Given the description of an element on the screen output the (x, y) to click on. 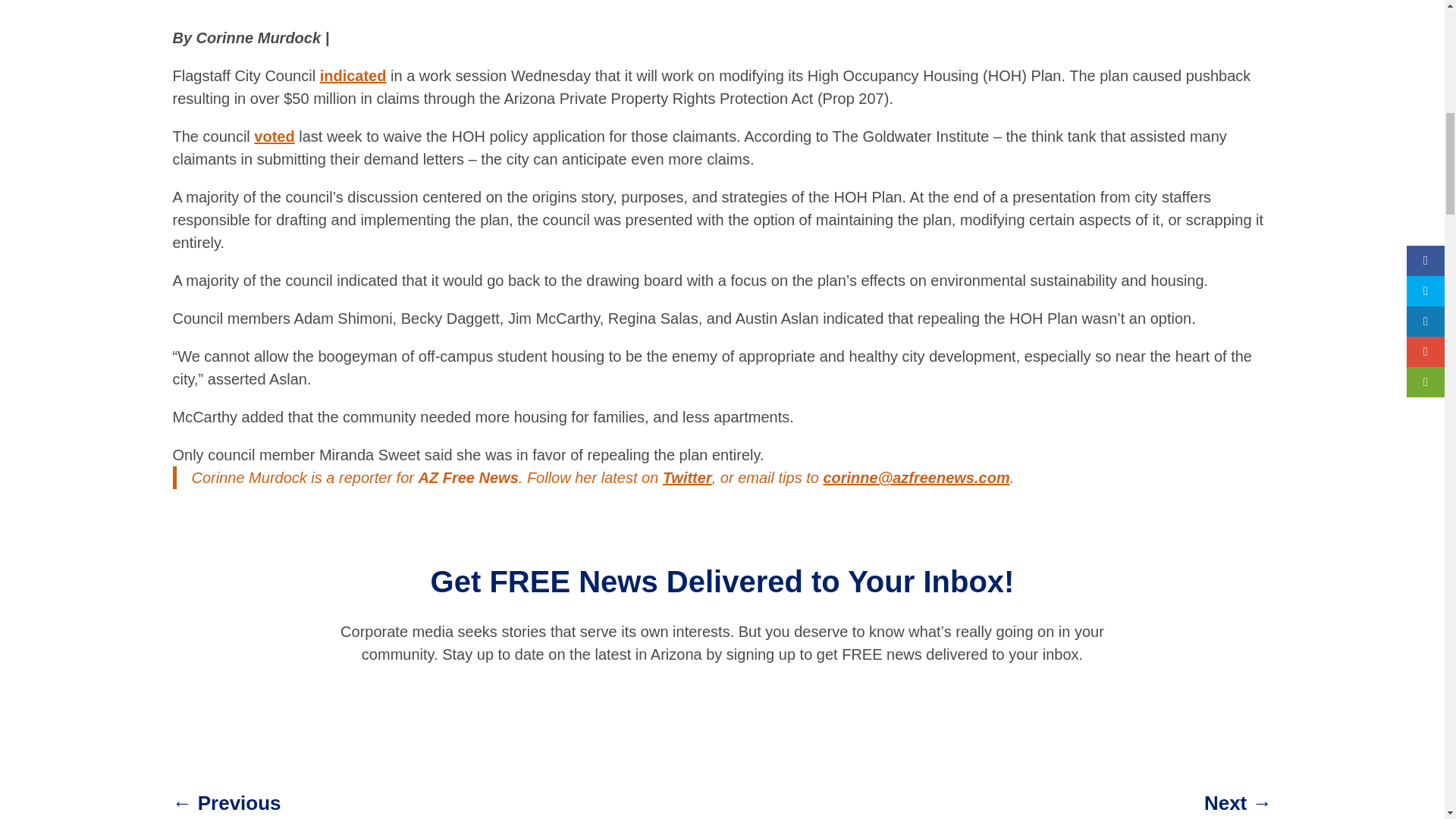
indicated (353, 75)
voted (273, 135)
Twitter (686, 477)
